Given the description of an element on the screen output the (x, y) to click on. 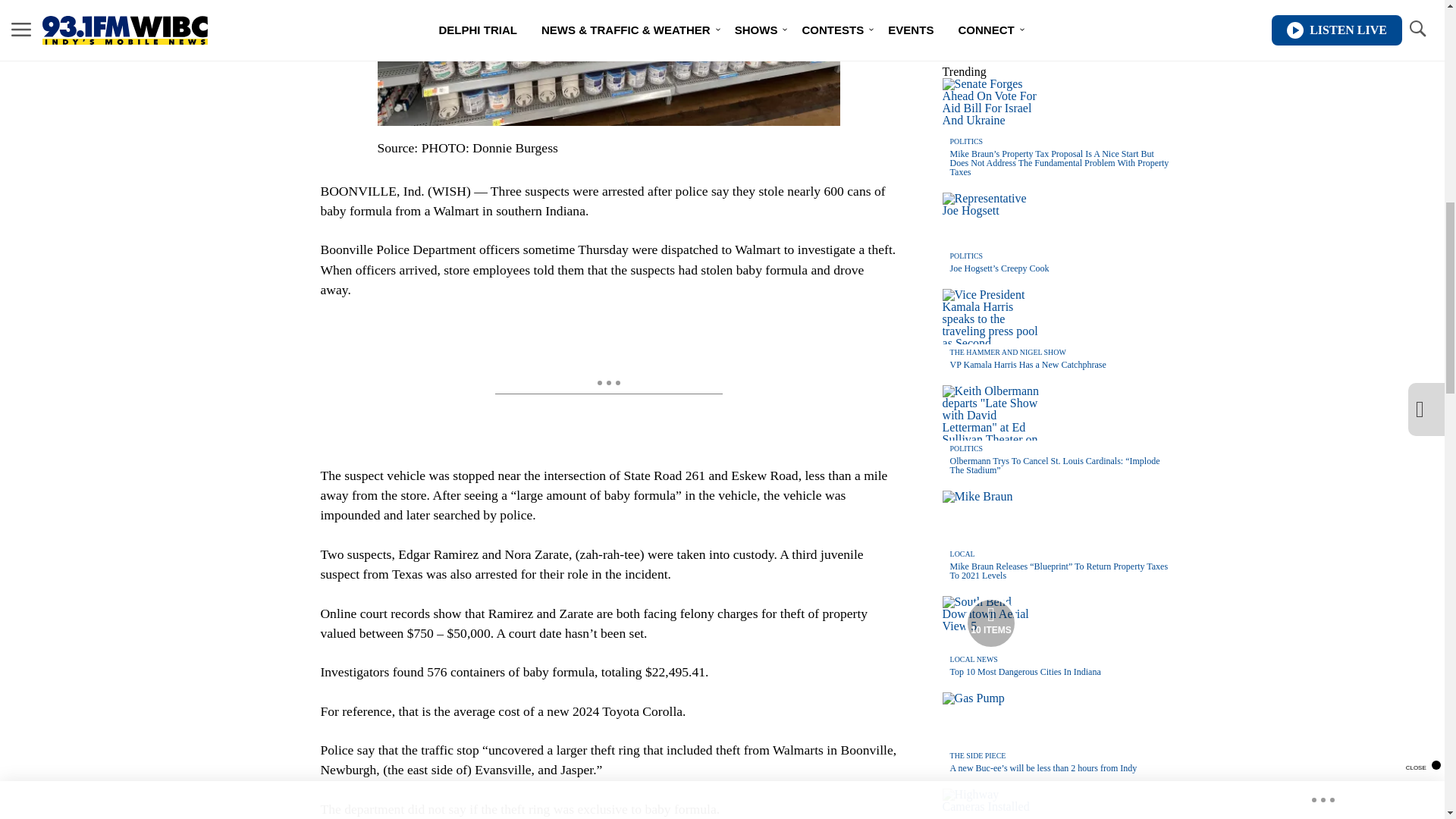
Media Playlist (990, 623)
